Given the description of an element on the screen output the (x, y) to click on. 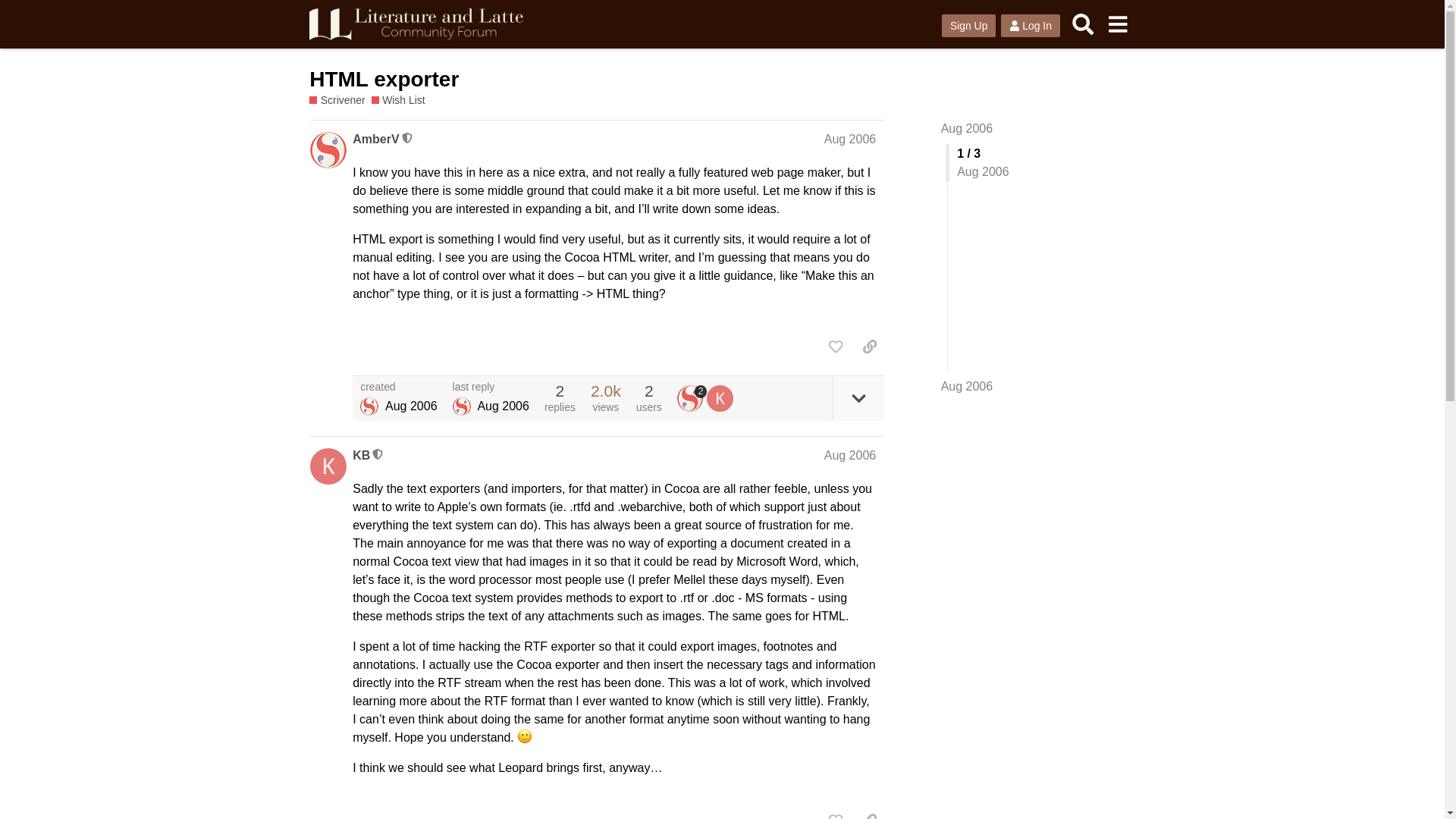
KB (360, 455)
Ask for help, report bugs, or give feedback for Scrivener. (336, 100)
last reply (490, 387)
Wish List (398, 100)
expand topic details (857, 398)
Aug 2006 (850, 454)
2 (692, 397)
Jump to the first post (966, 128)
Aug 2006 (850, 138)
Log In (1030, 25)
menu (1117, 23)
Aug 2006 (966, 386)
Aug 25, 2006 1:44 am (411, 405)
Search (1082, 23)
